Given the description of an element on the screen output the (x, y) to click on. 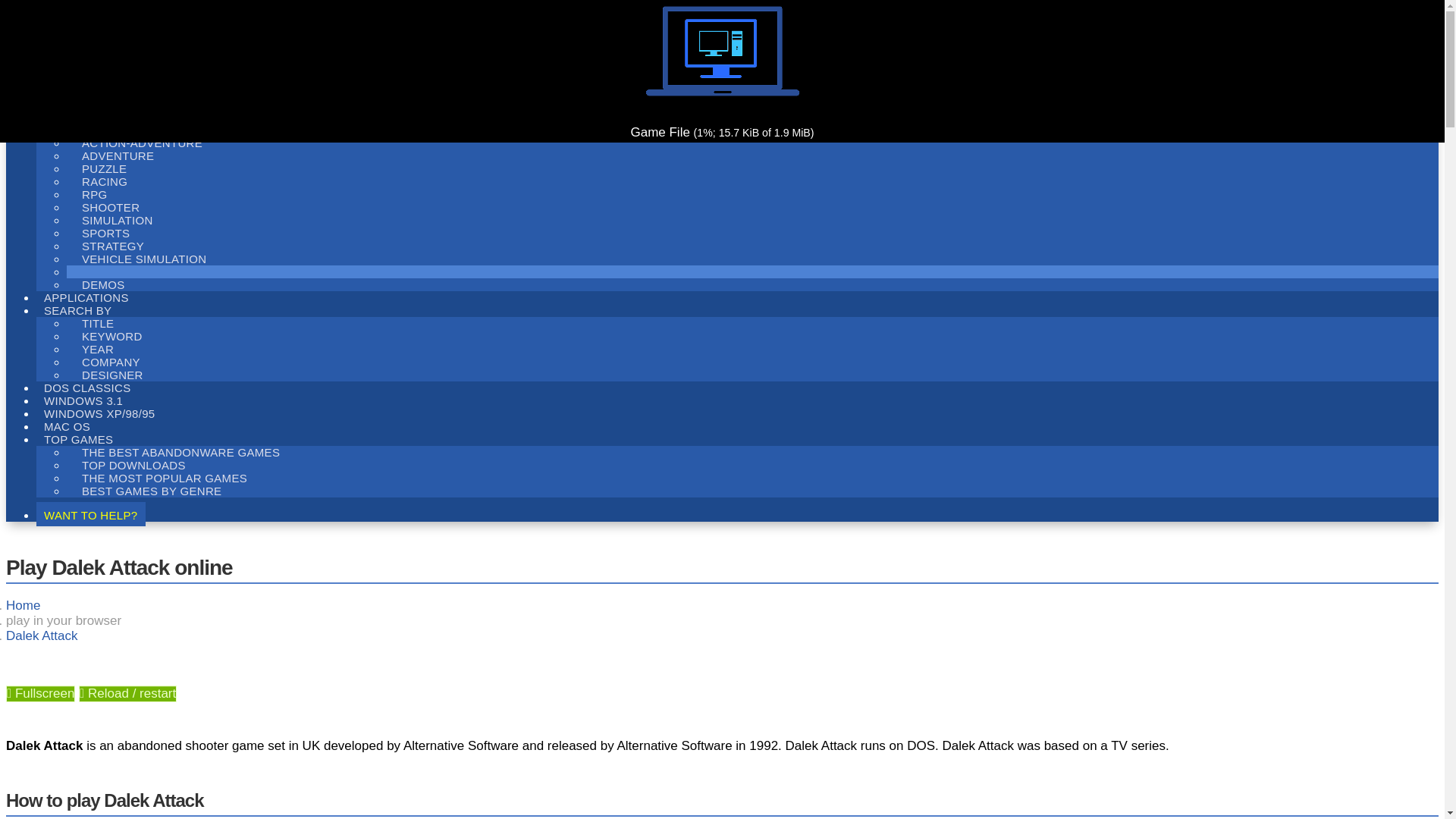
DOS CLASSICS (87, 386)
THE MOST POPULAR GAMES (164, 477)
DESIGNER (112, 374)
ADVENTURE (117, 155)
SHOOTER (110, 207)
TOP GAMES (78, 437)
WINDOWS 3.1 (83, 399)
SPORTS (105, 232)
ACTION-ADVENTURE (141, 142)
Fullscreen (40, 693)
Home (22, 605)
TITLE (97, 322)
Toggle navigation (11, 93)
THE BEST ABANDONWARE GAMES (180, 452)
PUZZLE (103, 168)
